Given the description of an element on the screen output the (x, y) to click on. 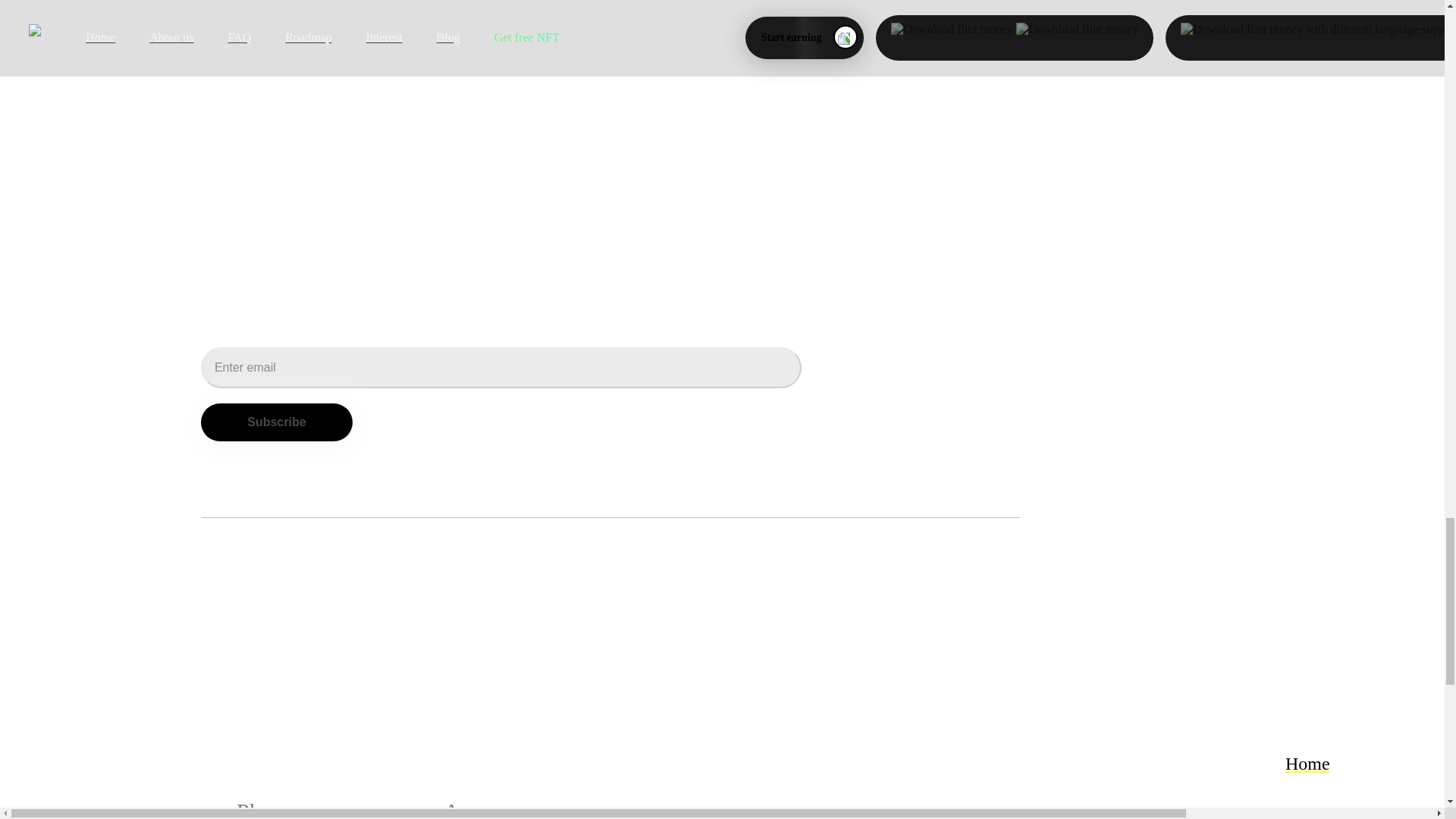
Home (1353, 763)
Subscribe (276, 422)
FAQ (1353, 811)
